Given the description of an element on the screen output the (x, y) to click on. 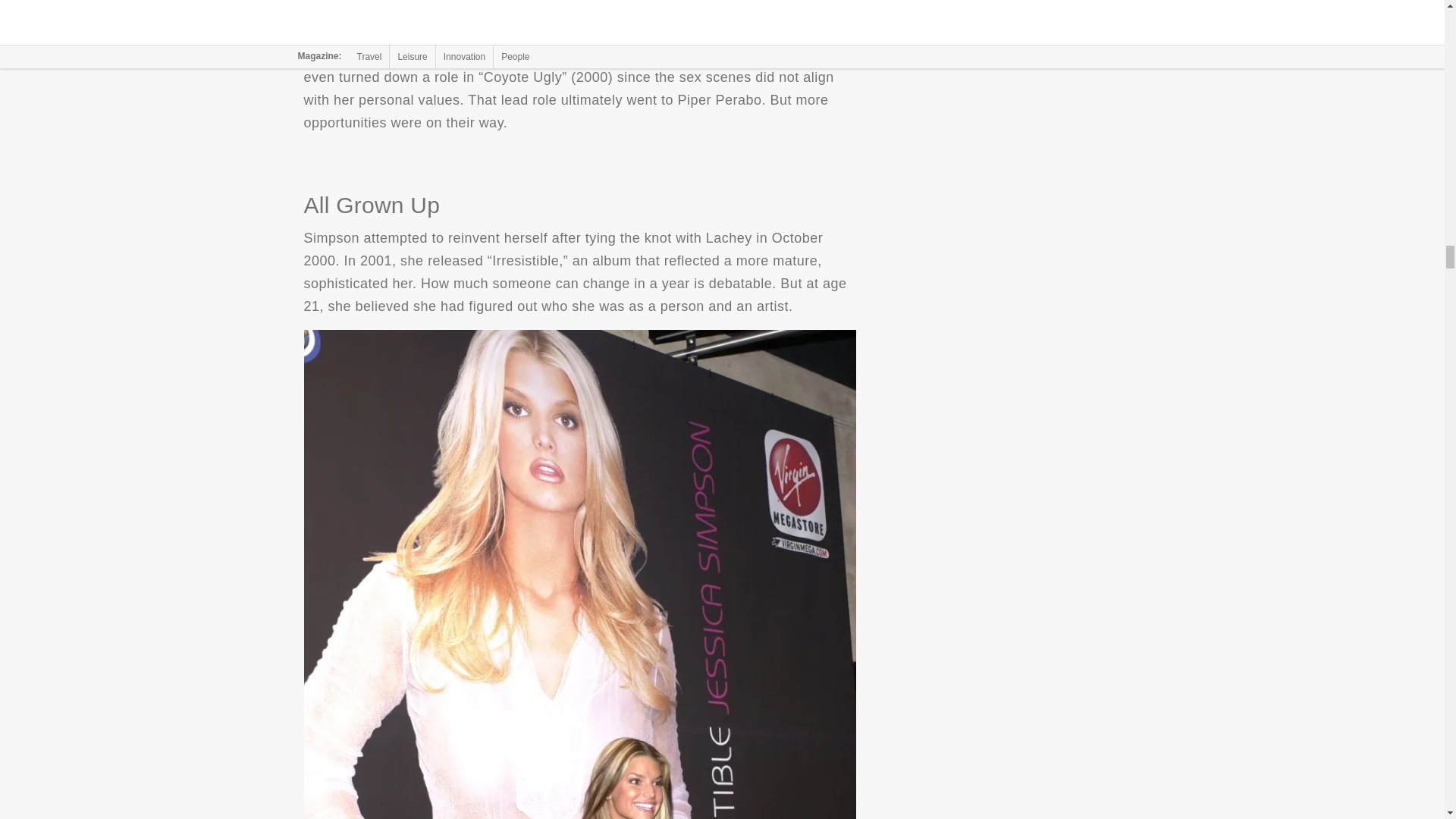
A Virgin and Not Just for PR (579, 8)
